Given the description of an element on the screen output the (x, y) to click on. 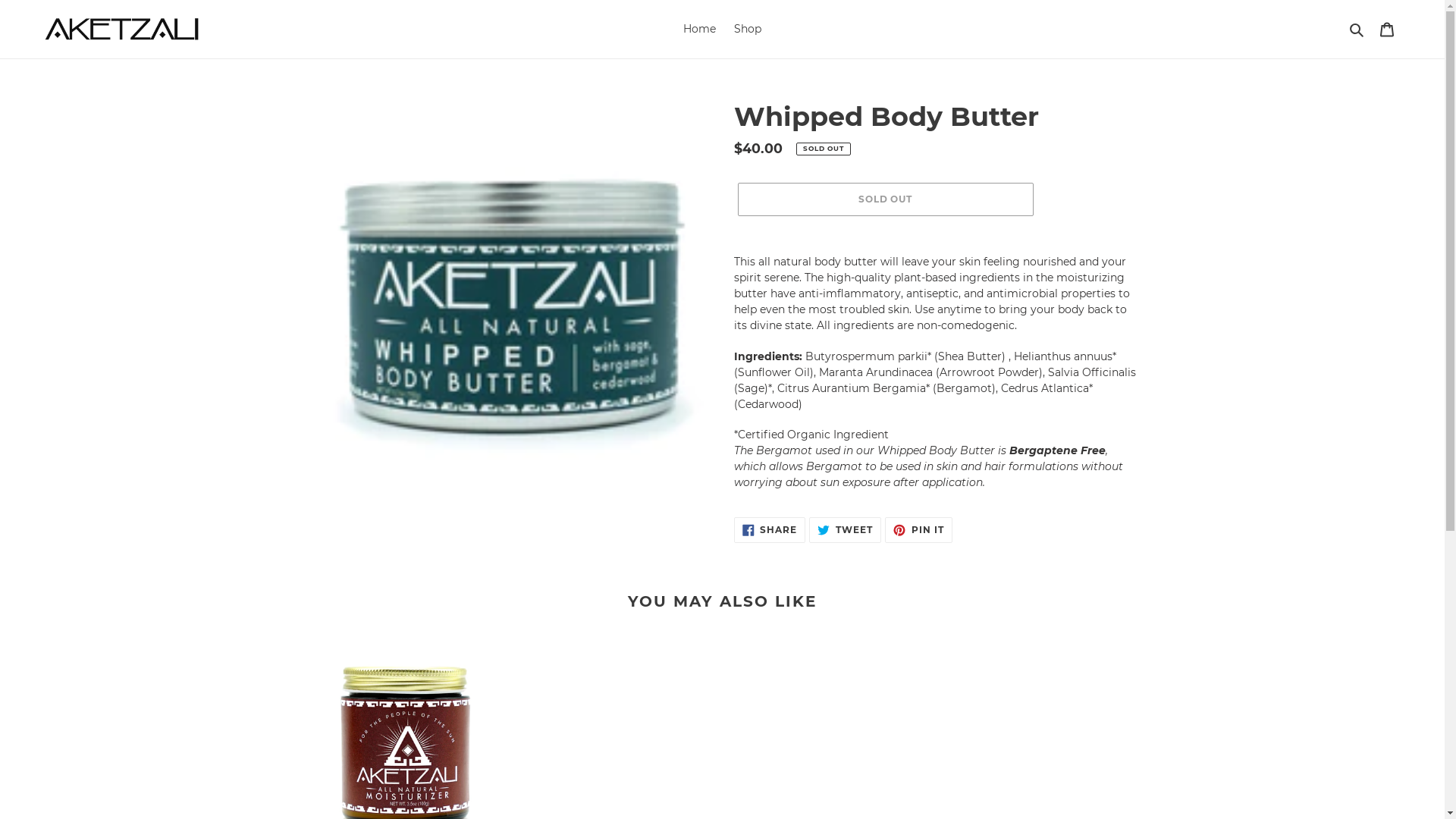
PIN IT
PIN ON PINTEREST Element type: text (918, 529)
Search Element type: text (1357, 28)
Shop Element type: text (747, 28)
SOLD OUT Element type: text (884, 199)
SHARE
SHARE ON FACEBOOK Element type: text (770, 529)
TWEET
TWEET ON TWITTER Element type: text (845, 529)
Cart Element type: text (1386, 28)
Home Element type: text (699, 28)
